Given the description of an element on the screen output the (x, y) to click on. 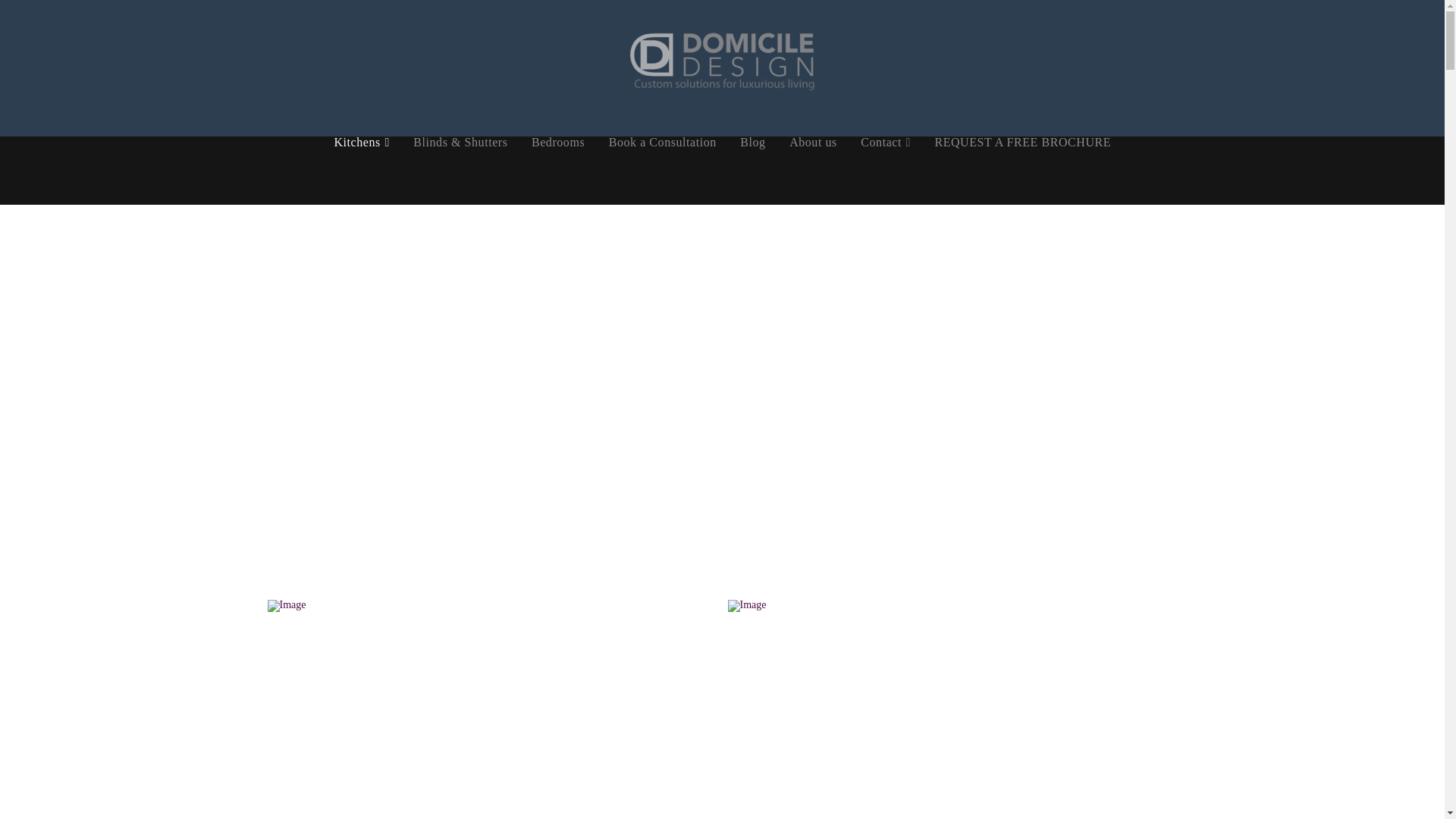
Kitchens (361, 170)
REQUEST A FREE BROCHURE (1021, 170)
Bedrooms (557, 170)
Contact (884, 170)
Book a Consultation (662, 170)
About us (812, 170)
